Given the description of an element on the screen output the (x, y) to click on. 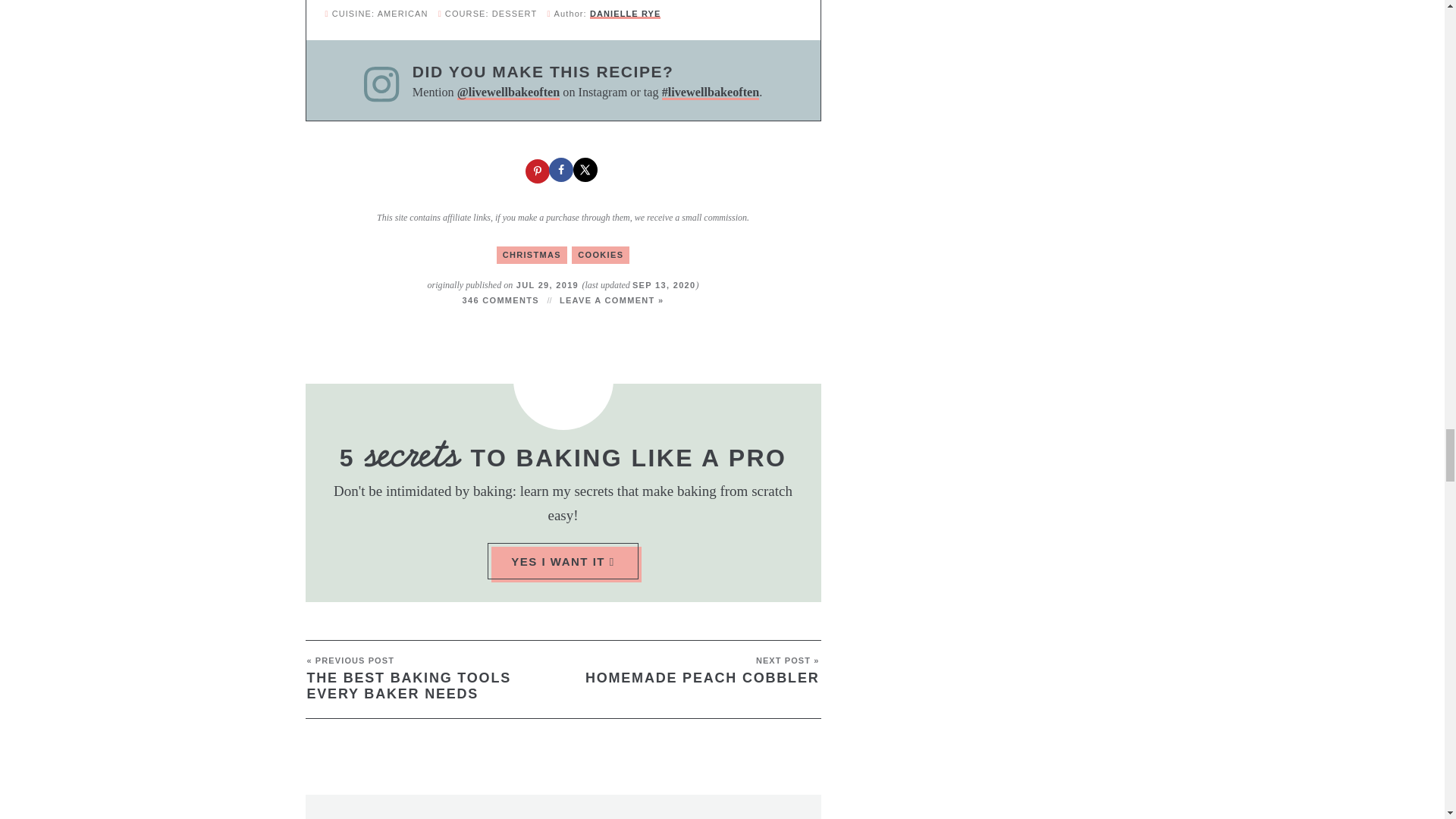
Share on Facebook (562, 170)
Save to Pinterest (537, 170)
Share on X (586, 170)
